Given the description of an element on the screen output the (x, y) to click on. 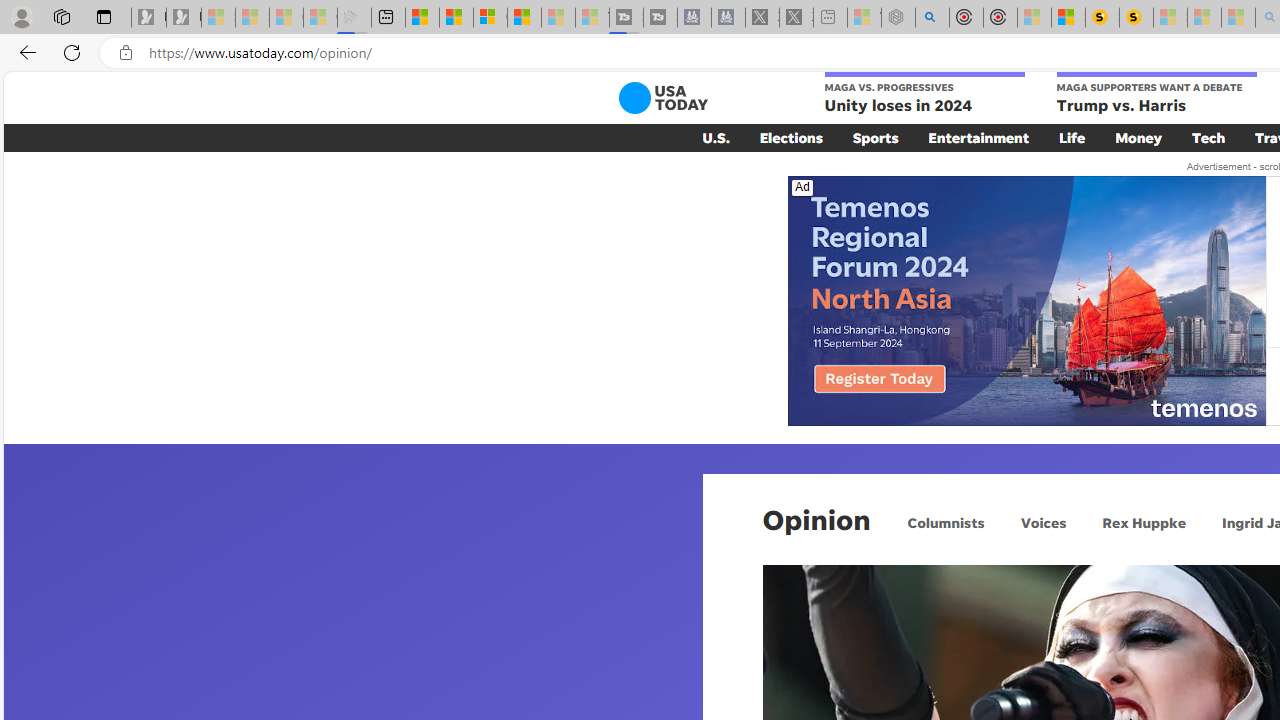
Back (24, 52)
Tab actions menu (104, 16)
Voices (1042, 521)
Rex Huppke (1143, 521)
Nordace - Summer Adventures 2024 - Sleeping (898, 17)
MAGA SUPPORTERS WANT A DEBATE Trump vs. Harris (1156, 94)
Streaming Coverage | T3 - Sleeping (626, 17)
Entertainment (978, 137)
Wildlife - MSN - Sleeping (863, 17)
X - Sleeping (795, 17)
poe - Search (932, 17)
